Given the description of an element on the screen output the (x, y) to click on. 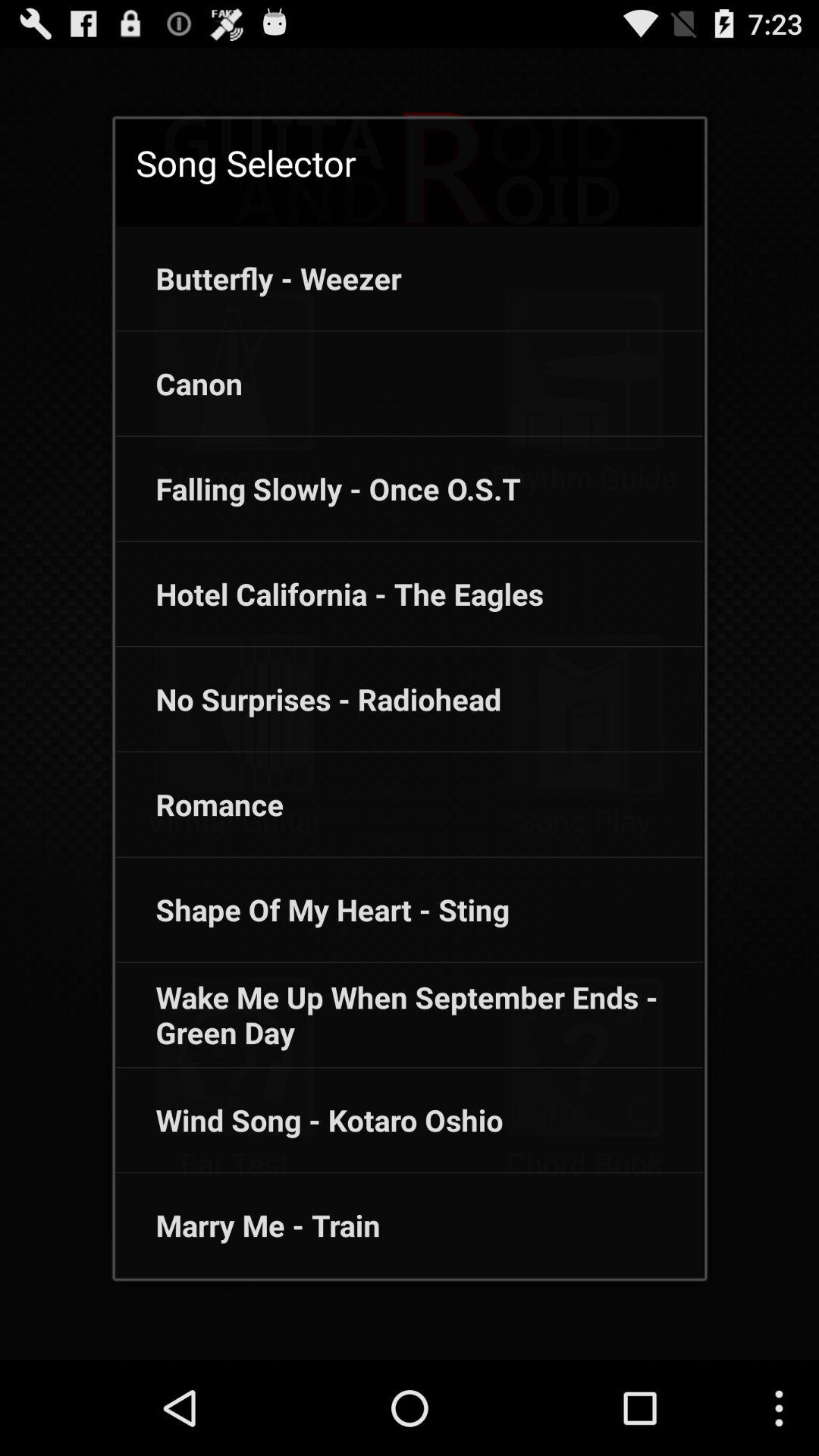
launch item above the wake me up (312, 909)
